Given the description of an element on the screen output the (x, y) to click on. 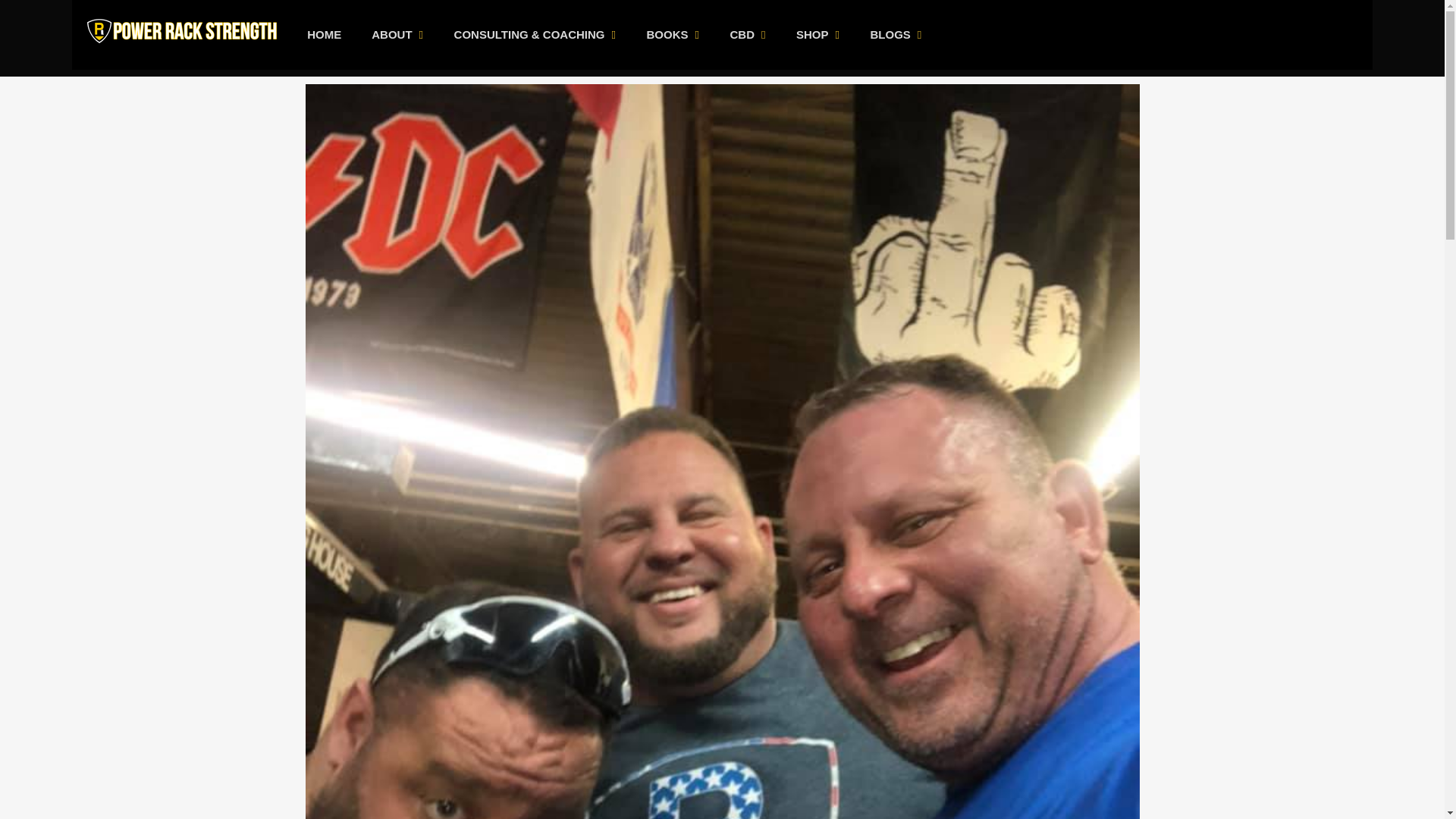
BOOKS (672, 34)
CBD (747, 34)
HOME (324, 34)
BLOGS (896, 34)
ABOUT (397, 34)
SHOP (818, 34)
